Given the description of an element on the screen output the (x, y) to click on. 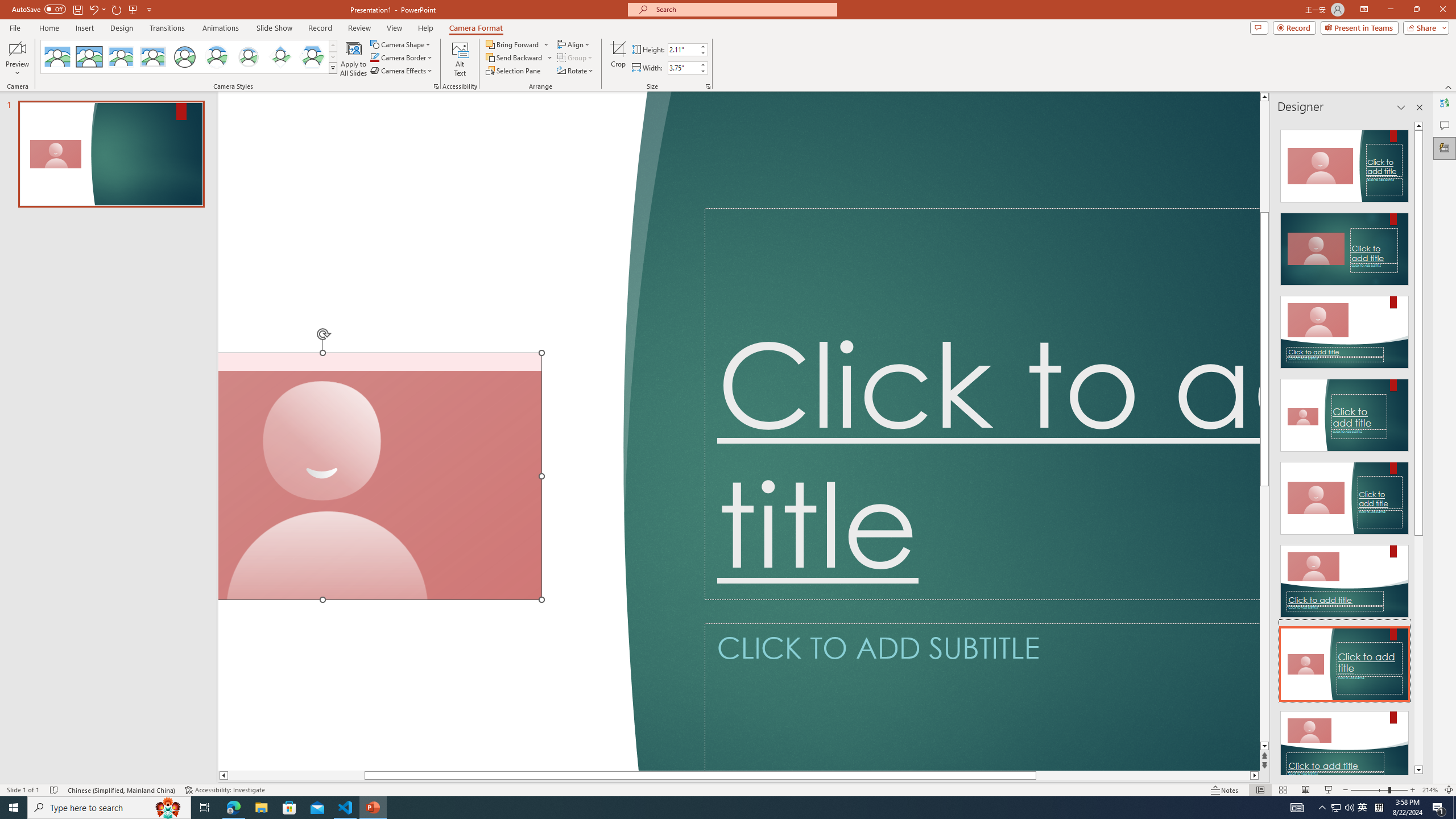
AutomationID: CameoStylesGallery (189, 56)
Class: MsoCommandBar (728, 789)
Line up (1264, 96)
Cameo Height (682, 49)
Crop (617, 58)
Center Shadow Hexagon (312, 56)
Camera Format (475, 28)
Soft Edge Rectangle (152, 56)
Page up (1264, 156)
Design Idea (1344, 743)
Bring Forward (517, 44)
